Given the description of an element on the screen output the (x, y) to click on. 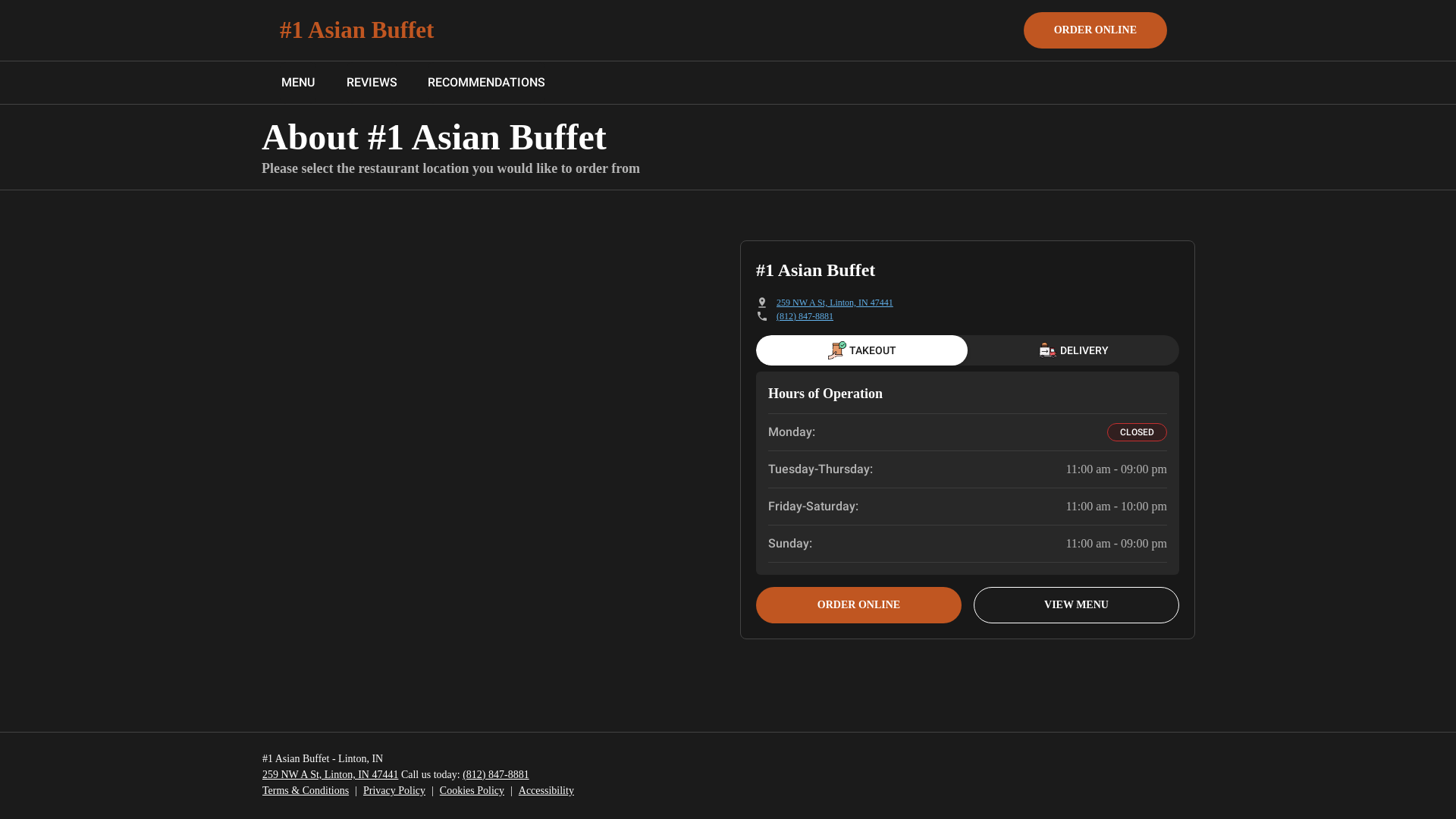
Cookies Policy Element type: text (471, 790)
259 NW A St, Linton, IN 47441 Element type: text (834, 302)
(812) 847-8881 Element type: text (495, 774)
map Element type: hover (494, 439)
Terms & Conditions Element type: text (305, 790)
Privacy Policy Element type: text (394, 790)
Accessibility Element type: text (546, 790)
MENU Element type: text (297, 82)
VIEW MENU Element type: text (1076, 604)
RECOMMENDATIONS Element type: text (486, 82)
REVIEWS Element type: text (371, 82)
RECOMMENDATIONS Element type: text (486, 82)
ORDER ONLINE Element type: text (858, 604)
259 NW A St, Linton, IN 47441 Element type: text (330, 774)
ORDER ONLINE Element type: text (1095, 30)
#1 Asian Buffet Element type: text (356, 29)
REVIEWS Element type: text (371, 82)
MENU Element type: text (297, 82)
(812) 847-8881 Element type: text (804, 316)
